Given the description of an element on the screen output the (x, y) to click on. 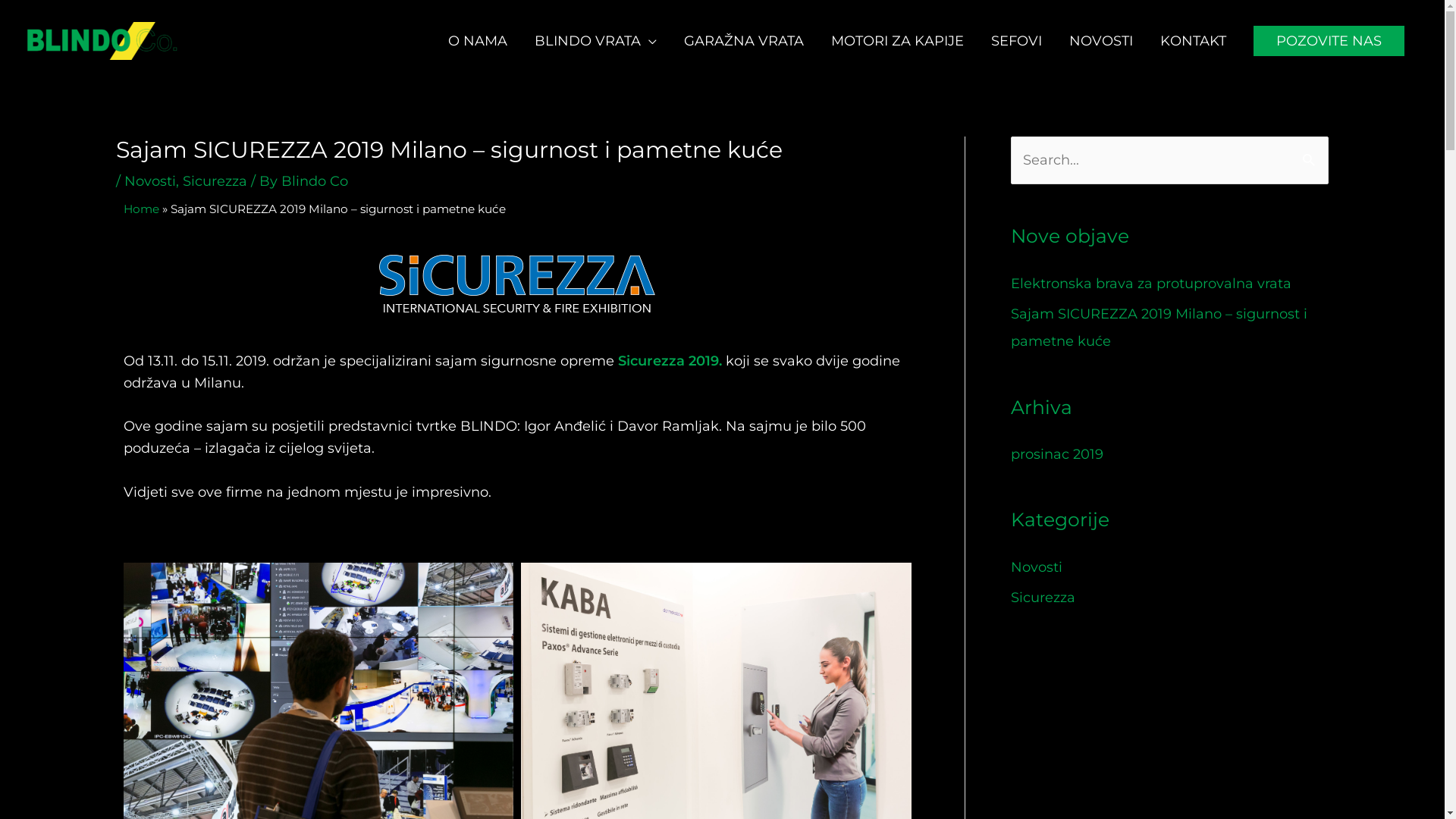
Blindo Co Element type: text (313, 180)
Novosti Element type: text (1035, 566)
Home Element type: text (140, 208)
prosinac 2019 Element type: text (1056, 453)
O NAMA Element type: text (477, 40)
Sicurezza Element type: text (214, 180)
KONTAKT Element type: text (1192, 40)
Novosti Element type: text (149, 180)
MOTORI ZA KAPIJE Element type: text (897, 40)
NOVOSTI Element type: text (1100, 40)
Elektronska brava za protuprovalna vrata Element type: text (1150, 283)
Sicurezza 2019. Element type: text (669, 360)
BLINDO VRATA Element type: text (595, 40)
SEFOVI Element type: text (1016, 40)
POZOVITE NAS Element type: text (1328, 40)
Sicurezza Element type: text (1042, 597)
Search Element type: text (1310, 158)
